Given the description of an element on the screen output the (x, y) to click on. 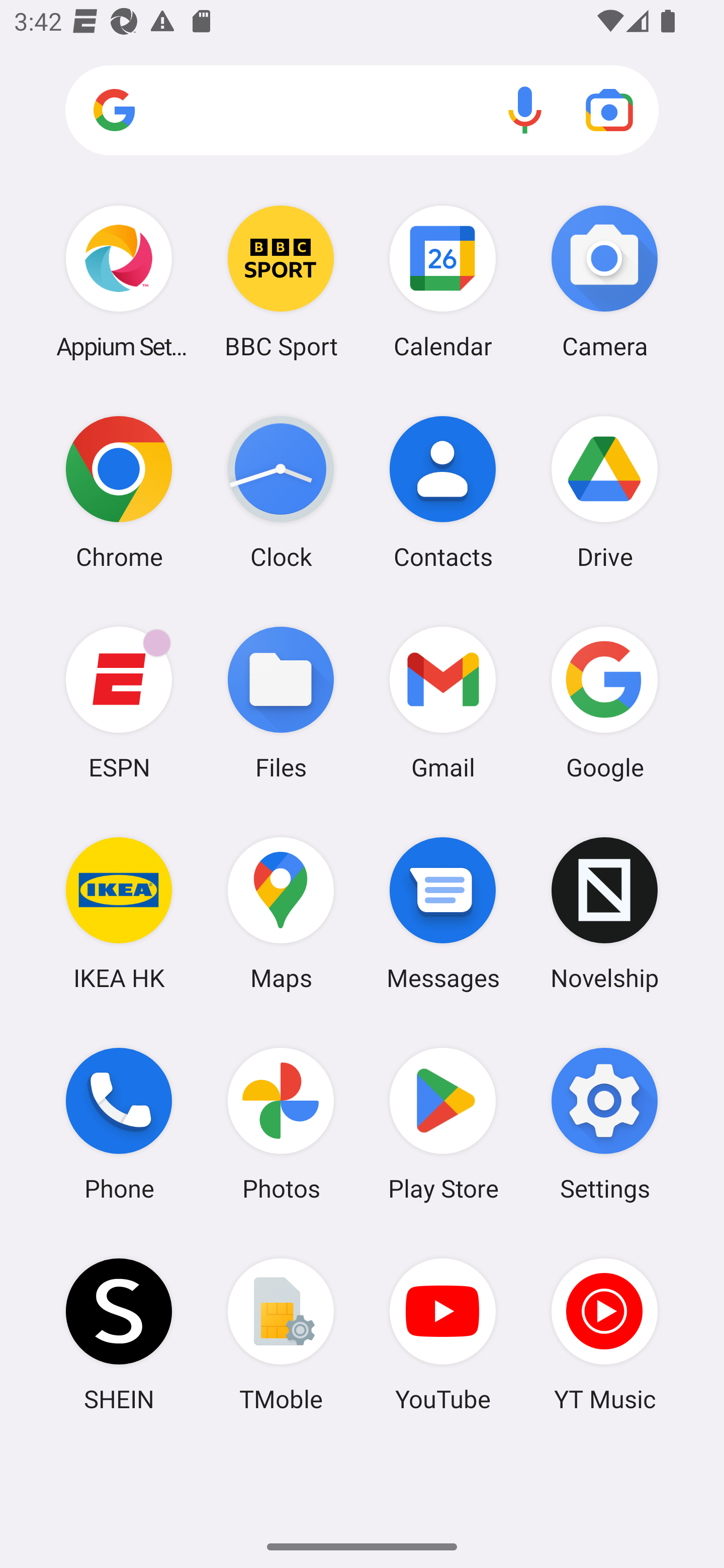
Search apps, web and more (361, 110)
Voice search (524, 109)
Google Lens (608, 109)
Appium Settings (118, 281)
BBC Sport (280, 281)
Calendar (443, 281)
Camera (604, 281)
Chrome (118, 492)
Clock (280, 492)
Contacts (443, 492)
Drive (604, 492)
ESPN ESPN has 3 notifications (118, 702)
Files (280, 702)
Gmail (443, 702)
Google (604, 702)
IKEA HK (118, 913)
Maps (280, 913)
Messages (443, 913)
Novelship (604, 913)
Phone (118, 1124)
Photos (280, 1124)
Play Store (443, 1124)
Settings (604, 1124)
SHEIN (118, 1334)
TMoble (280, 1334)
YouTube (443, 1334)
YT Music (604, 1334)
